Given the description of an element on the screen output the (x, y) to click on. 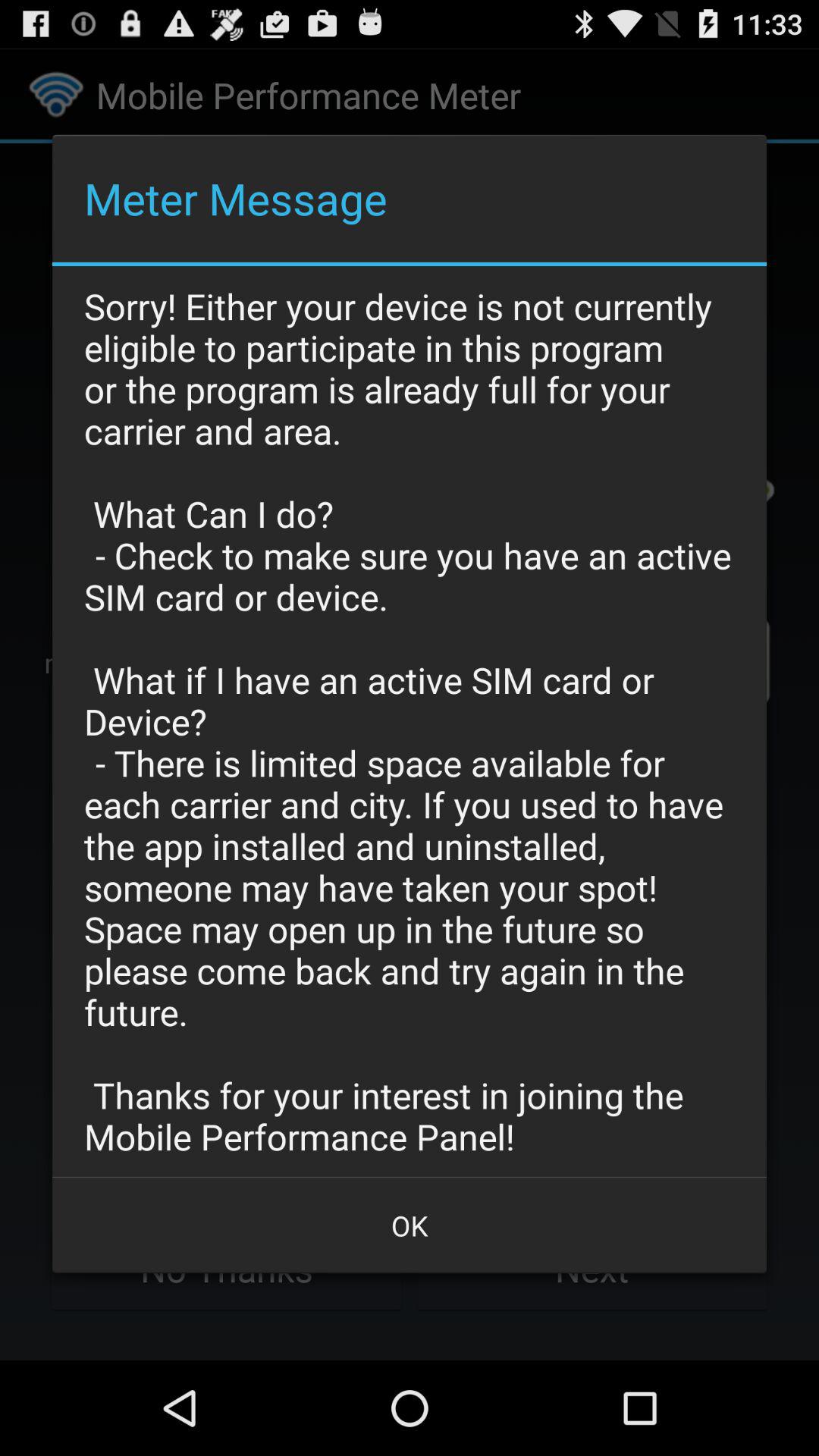
press ok button (409, 1225)
